Given the description of an element on the screen output the (x, y) to click on. 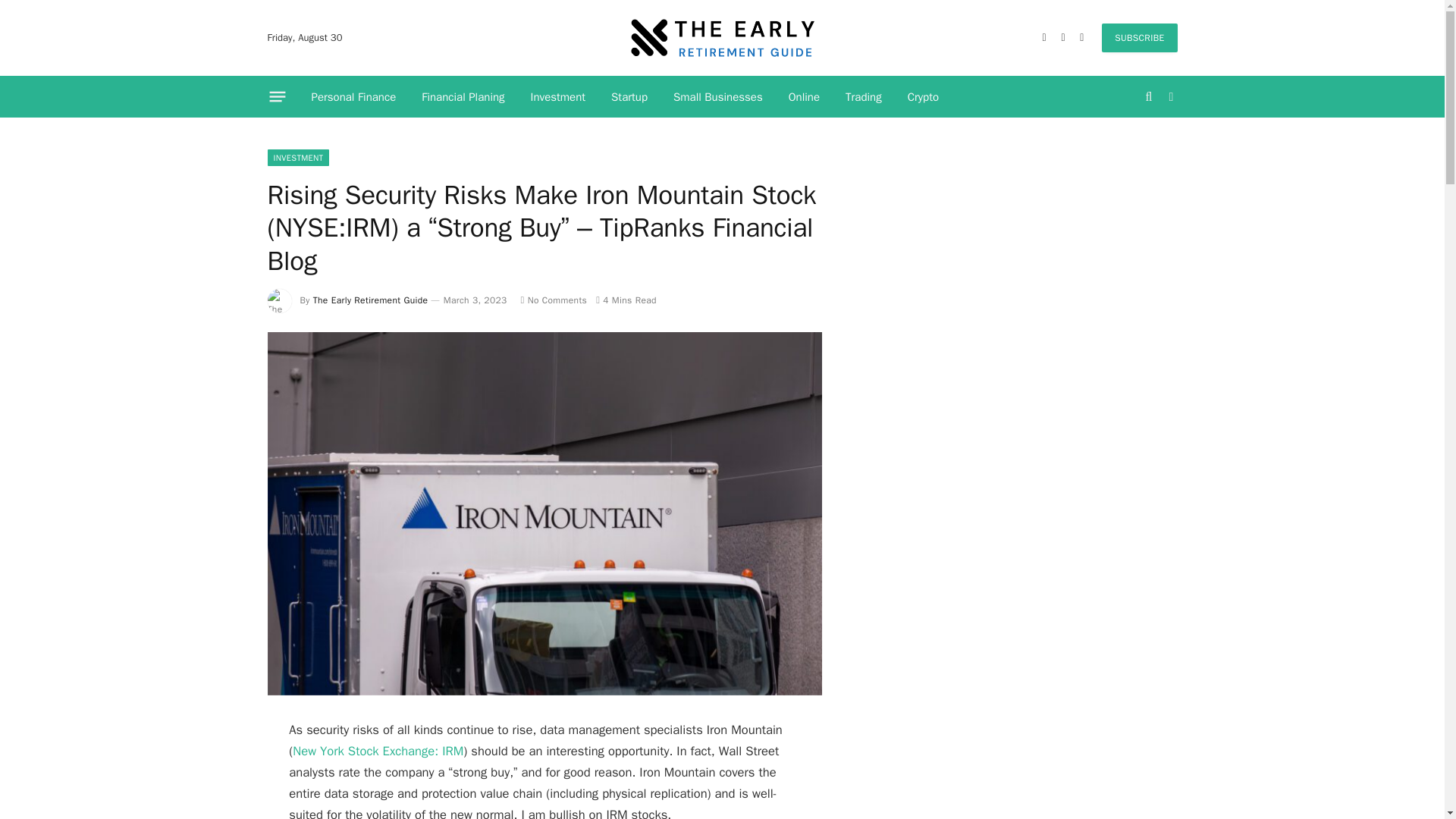
Switch to Dark Design - easier on eyes. (1169, 96)
New York Stock Exchange: IRM (377, 750)
Personal Finance (353, 96)
Startup (629, 96)
Financial Planing (462, 96)
INVESTMENT (297, 157)
Crypto (923, 96)
No Comments (554, 300)
The Early Retirement Guide (721, 37)
Trading (863, 96)
